Given the description of an element on the screen output the (x, y) to click on. 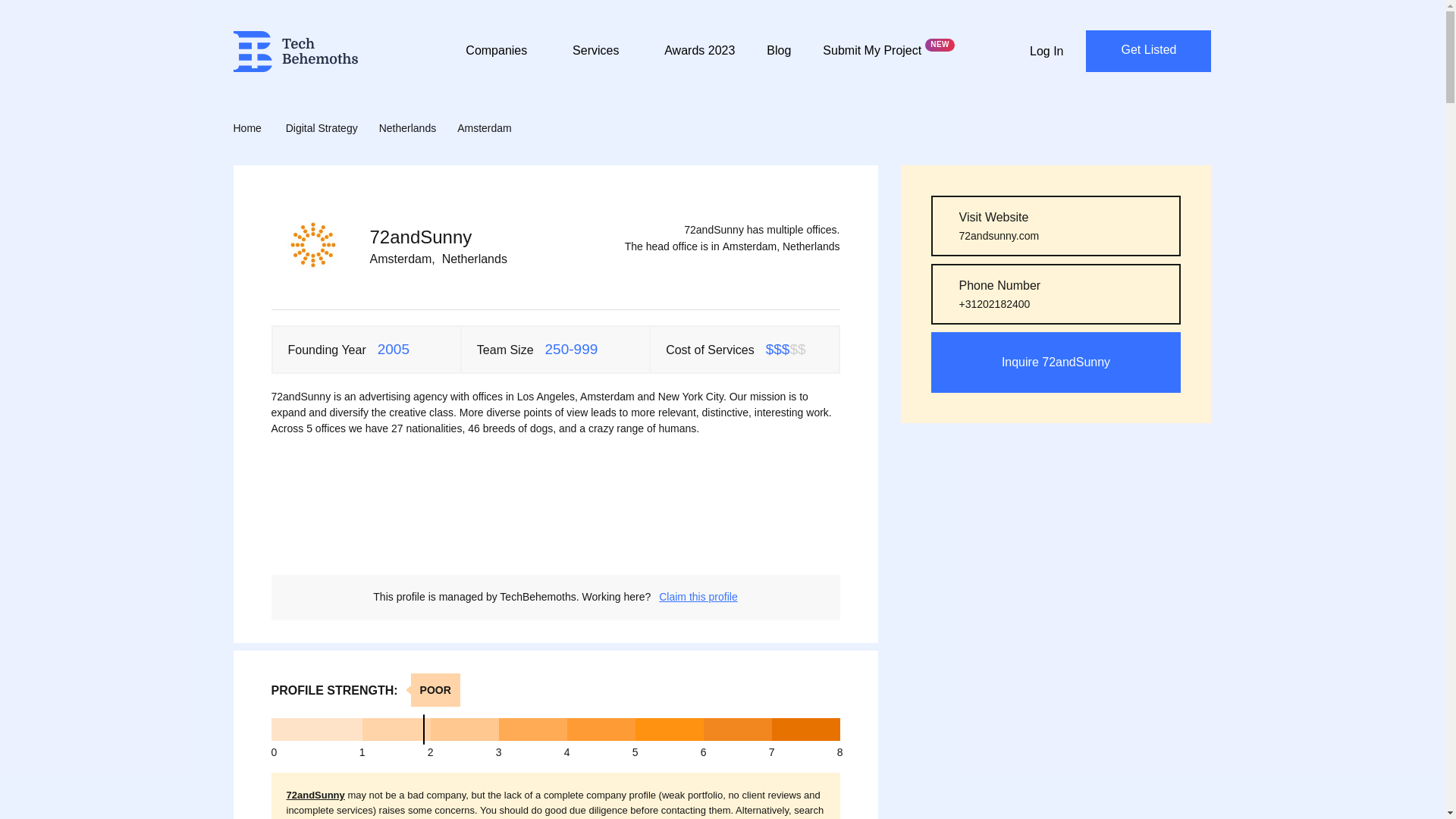
Companies (502, 59)
